Given the description of an element on the screen output the (x, y) to click on. 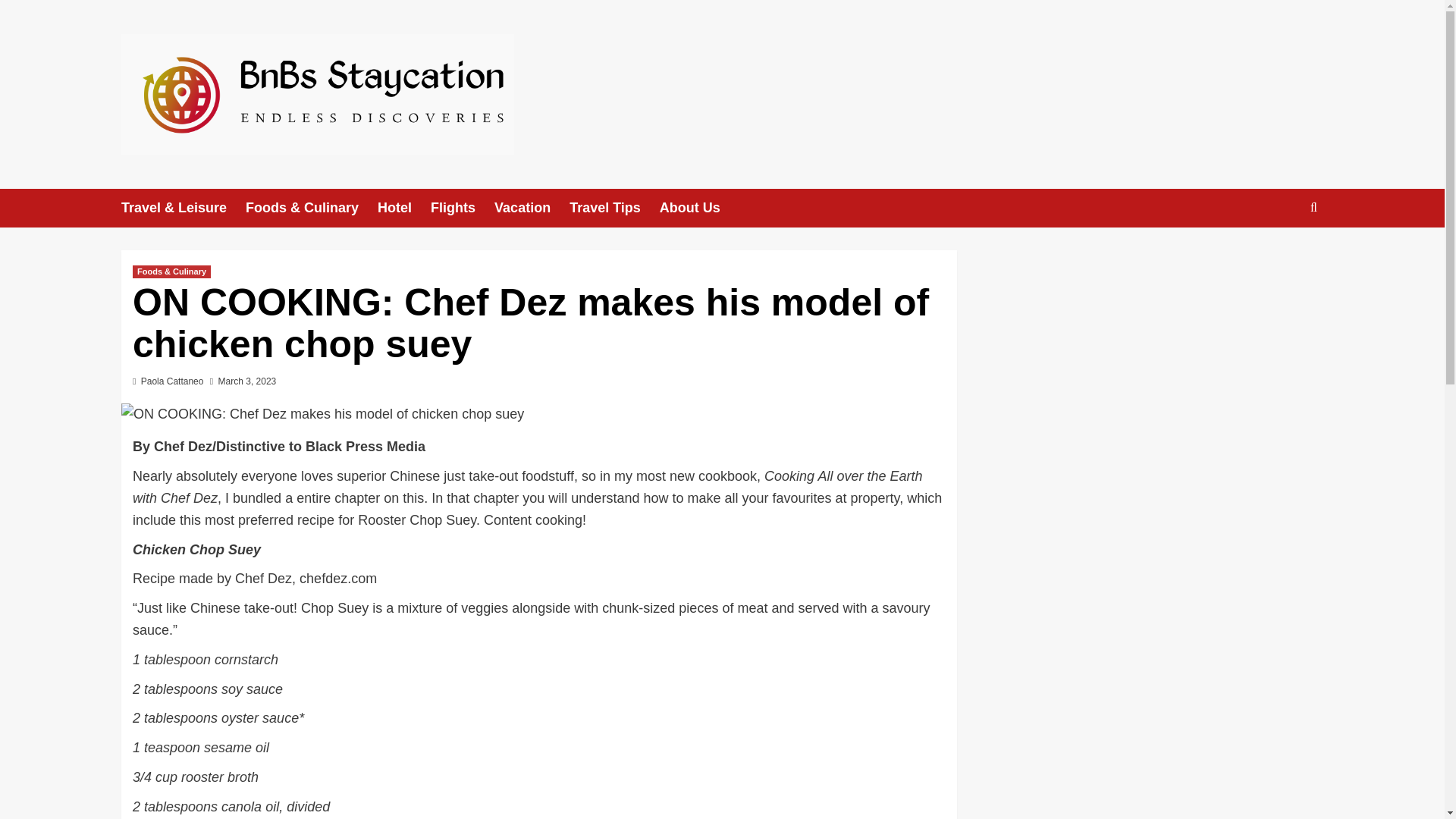
Vacation (532, 208)
March 3, 2023 (247, 380)
Flights (462, 208)
Hotel (403, 208)
ON COOKING: Chef Dez makes his model of chicken chop suey (322, 414)
Paola Cattaneo (172, 380)
Search (1278, 254)
About Us (699, 208)
Travel Tips (614, 208)
